Given the description of an element on the screen output the (x, y) to click on. 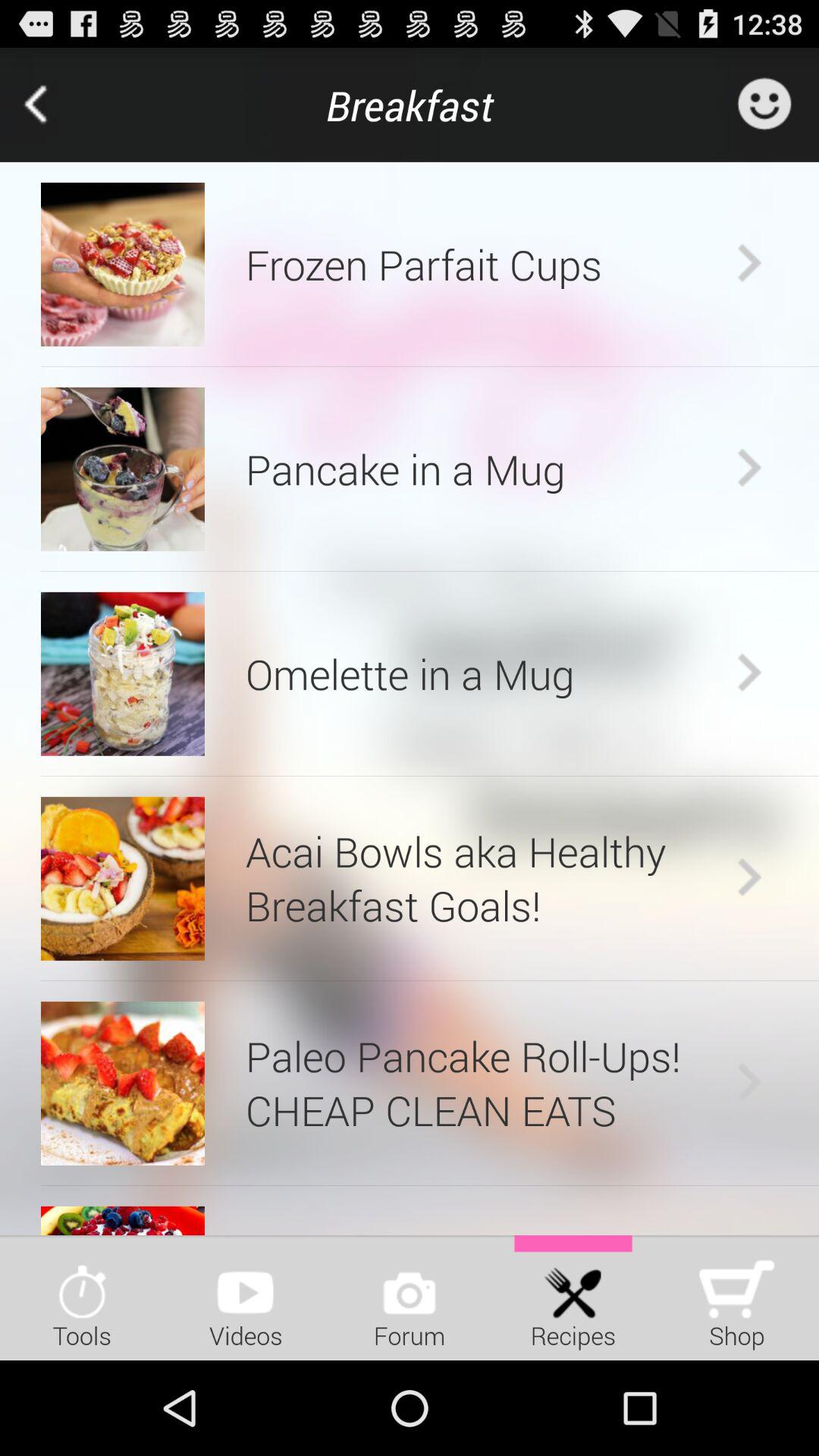
turn off the icon next to the omelette in a item (749, 673)
